Given the description of an element on the screen output the (x, y) to click on. 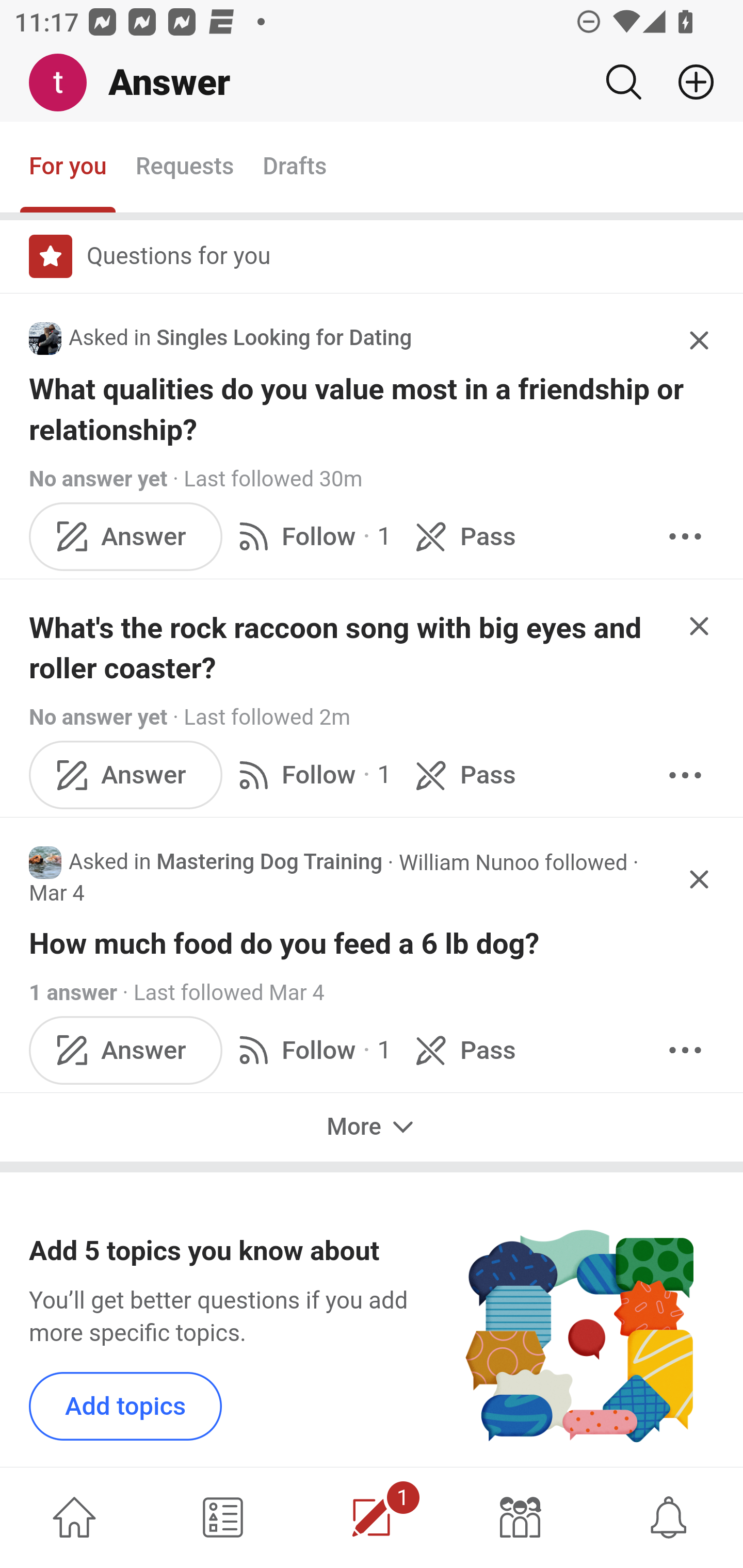
Me (64, 83)
Search (623, 82)
Add (688, 82)
For you (68, 167)
Requests (183, 167)
Drafts (295, 167)
Hide (699, 340)
Icon for Singles Looking for Dating (44, 338)
No answer yet (97, 478)
Answer (125, 535)
Follow · 1 (311, 535)
Pass (461, 535)
More (684, 535)
Hide (699, 626)
No answer yet (97, 718)
Answer (125, 774)
Follow · 1 (311, 774)
Pass (461, 774)
More (684, 774)
Hide (699, 878)
Icon for Mastering Dog Training (44, 862)
Mar 4 (56, 892)
How much food do you feed a 6 lb dog? (372, 943)
1 answer 1  answer (73, 993)
Answer (125, 1049)
Follow · 1 (311, 1049)
Pass (461, 1049)
More (684, 1049)
More (371, 1125)
Add topics (125, 1405)
